Given the description of an element on the screen output the (x, y) to click on. 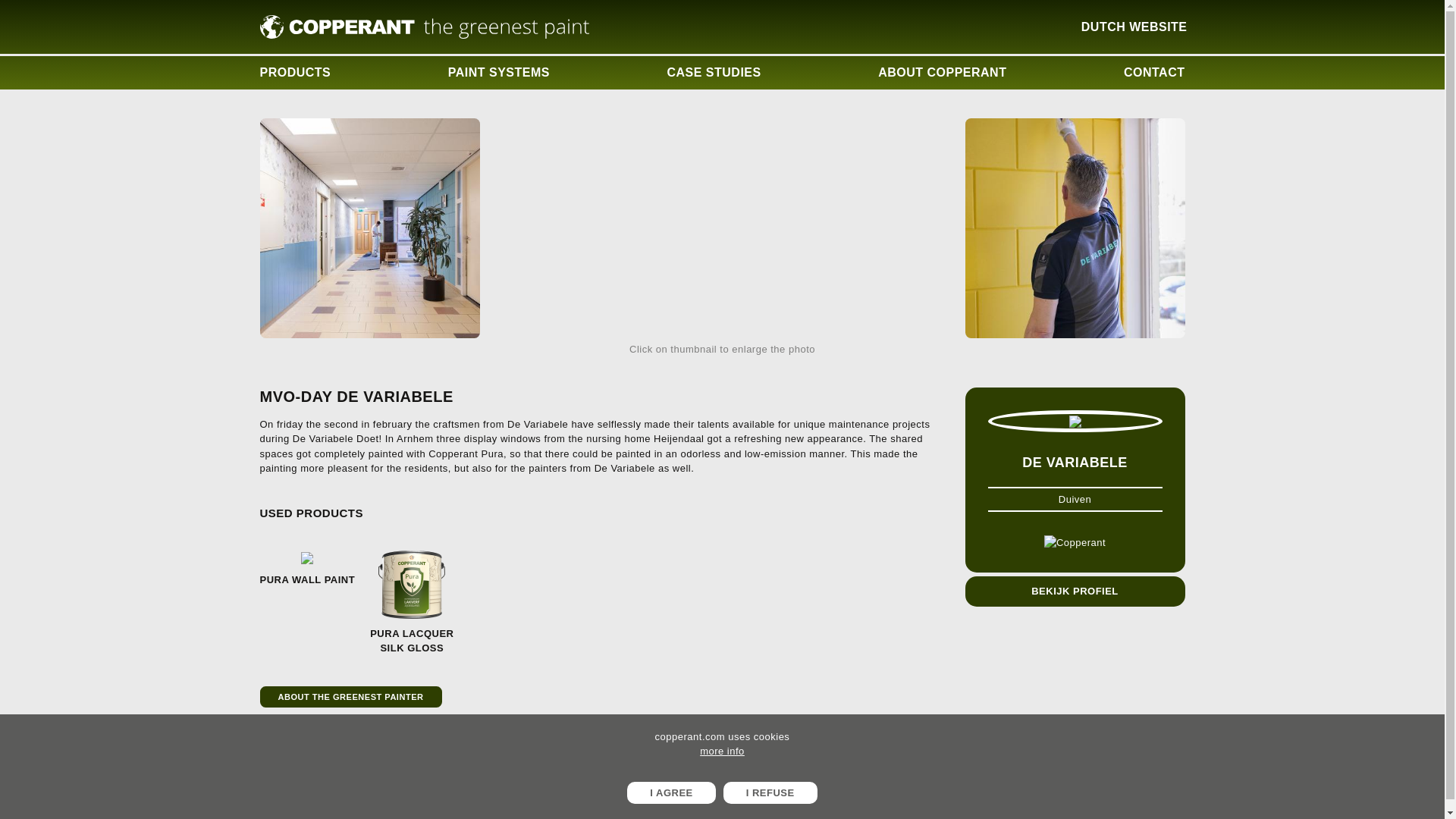
DUTCH WEBSITE (1133, 27)
Copperant (1074, 542)
89100 Copperant Pura Wallpaint (307, 569)
PRODUCTS (294, 72)
The Greenest Painter (350, 696)
CASE STUDIES (713, 72)
De Variabele (1074, 591)
PAINT SYSTEMS (499, 72)
Copperant (289, 776)
Copperant (424, 26)
